Given the description of an element on the screen output the (x, y) to click on. 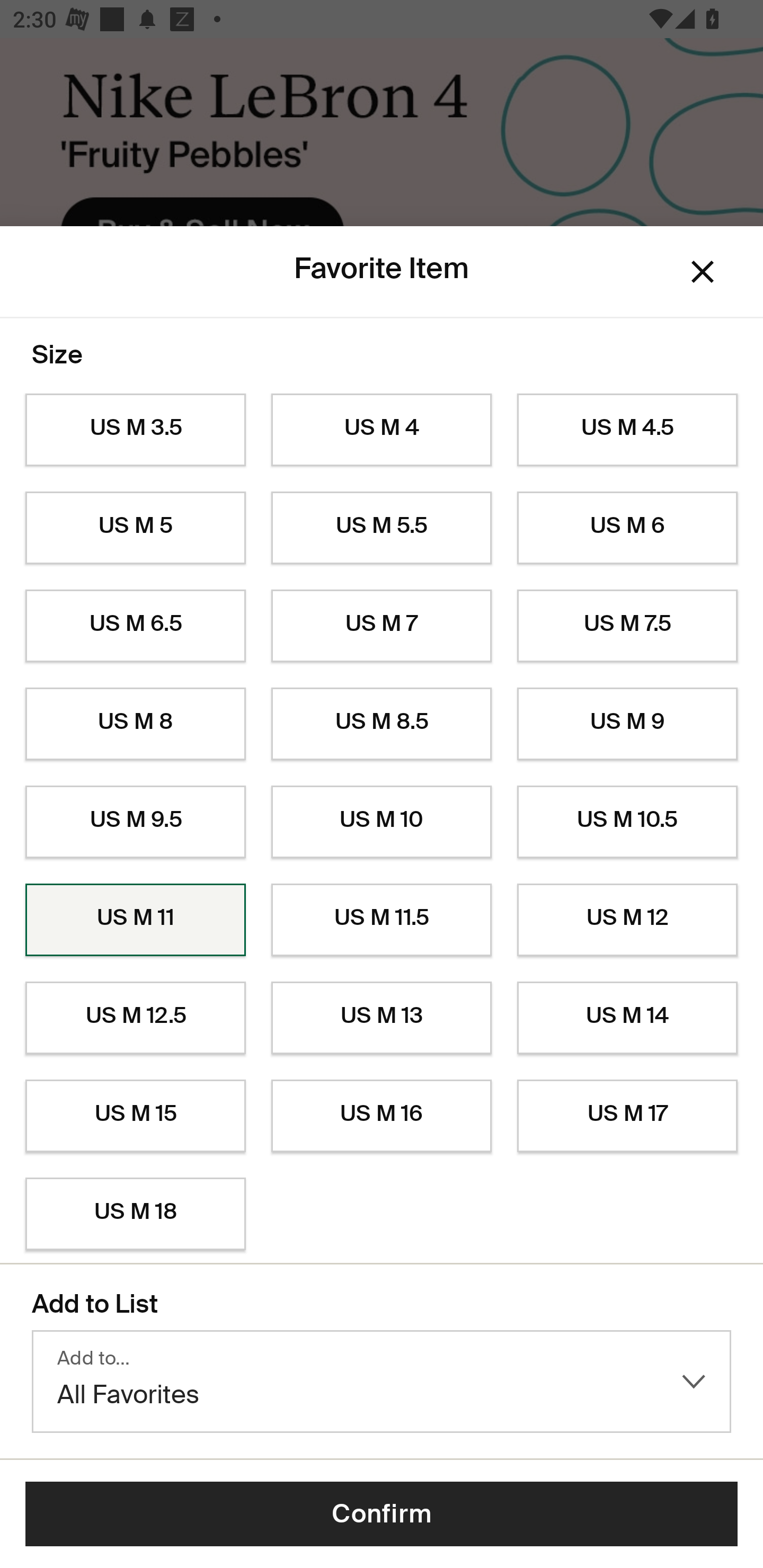
Dismiss (702, 271)
US M 3.5 (135, 430)
US M 4 (381, 430)
US M 4.5 (627, 430)
US M 5 (135, 527)
US M 5.5 (381, 527)
US M 6 (627, 527)
US M 6.5 (135, 626)
US M 7 (381, 626)
US M 7.5 (627, 626)
US M 8 (135, 724)
US M 8.5 (381, 724)
US M 9 (627, 724)
US M 9.5 (135, 822)
US M 10 (381, 822)
US M 10.5 (627, 822)
US M 11 (135, 919)
US M 11.5 (381, 919)
US M 12 (627, 919)
US M 12.5 (135, 1018)
US M 13 (381, 1018)
US M 14 (627, 1018)
US M 15 (135, 1116)
US M 16 (381, 1116)
US M 17 (627, 1116)
US M 18 (135, 1214)
Add to… All Favorites (381, 1381)
Confirm (381, 1513)
